Given the description of an element on the screen output the (x, y) to click on. 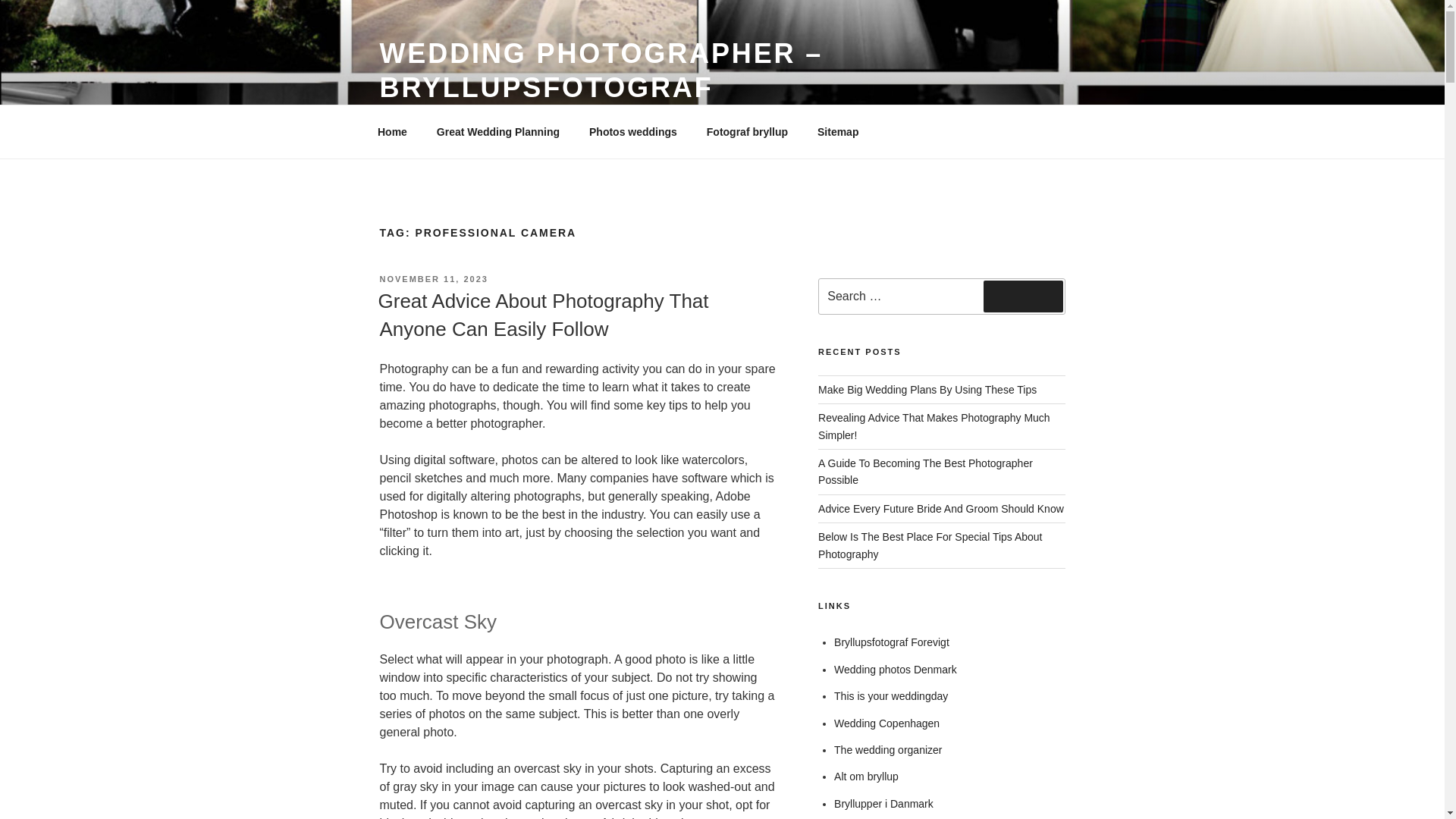
Home (392, 131)
Photos weddings (633, 131)
Great Wedding Planning (497, 131)
This is your weddingday (890, 695)
Fotograf bryllup (746, 131)
Alt om bryllup (866, 776)
Sitemap (836, 131)
Wedding Copenhagen (886, 723)
Great Advice About Photography That Anyone Can Easily Follow (542, 314)
NOVEMBER 11, 2023 (432, 278)
Below Is The Best Place For Special Tips About Photography (930, 544)
Search (1023, 296)
Make Big Wedding Plans By Using These Tips (927, 389)
A Guide To Becoming The Best Photographer Possible (925, 471)
Bryllupsfotograf Forevigt (891, 642)
